Given the description of an element on the screen output the (x, y) to click on. 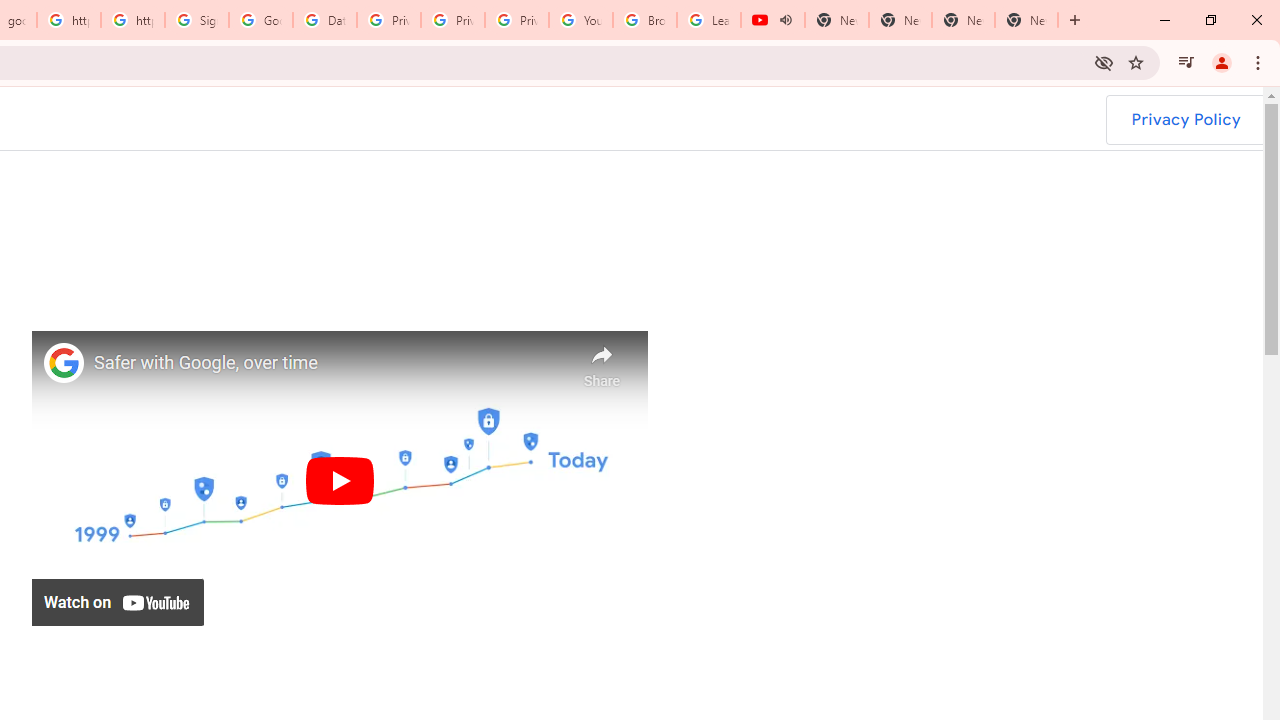
YouTube (581, 20)
Sign in - Google Accounts (197, 20)
Safer with Google, over time (330, 363)
Privacy Help Center - Policies Help (389, 20)
Privacy Help Center - Policies Help (453, 20)
Share (601, 361)
Mute tab (785, 20)
